Given the description of an element on the screen output the (x, y) to click on. 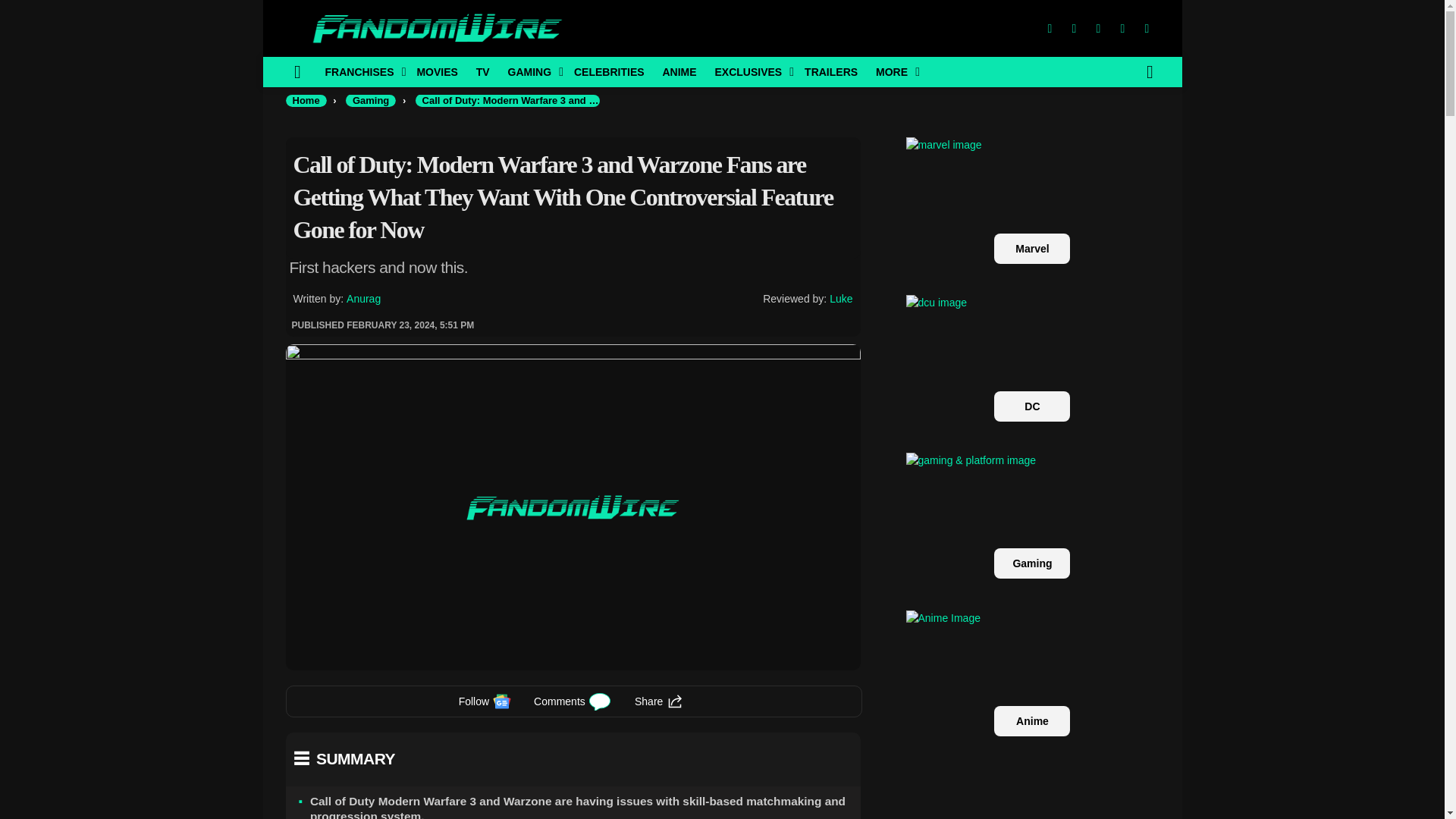
Facebook (1048, 28)
Menu (296, 71)
GAMING (532, 71)
MOVIES (436, 71)
MORE (893, 71)
TV (482, 71)
LinkedIn (1121, 28)
ANIME (678, 71)
CELEBRITIES (609, 71)
EXCLUSIVES (749, 71)
TRAILERS (830, 71)
Insta (1097, 28)
YT (1146, 28)
FRANCHISES (361, 71)
Twitter (1073, 28)
